Given the description of an element on the screen output the (x, y) to click on. 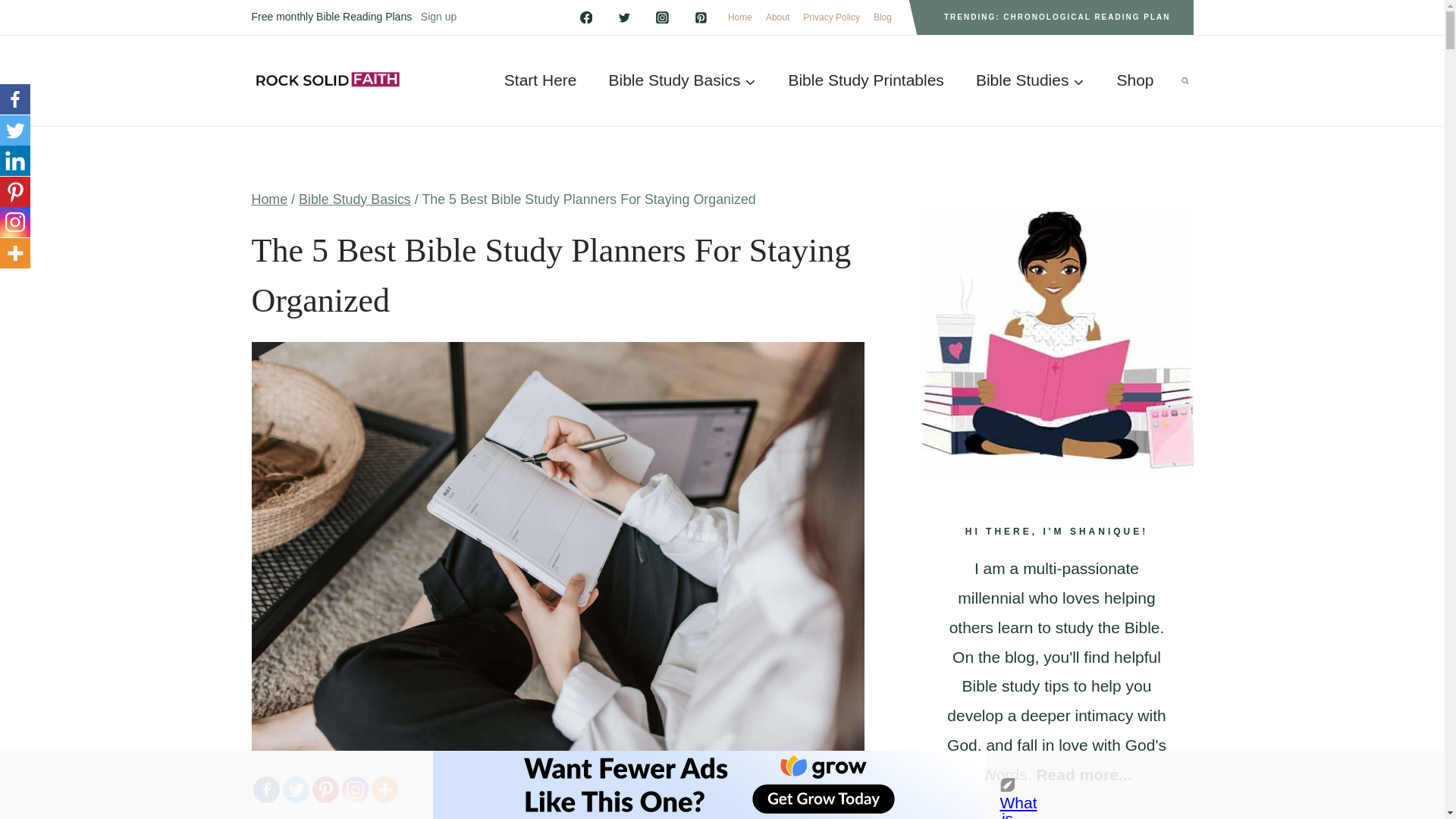
Linkedin (15, 160)
Start Here (539, 80)
Pinterest (326, 789)
Bible Study Basics (354, 199)
Twitter (15, 130)
Home (269, 199)
Bible Study Printables (865, 80)
Home (739, 17)
More (15, 253)
TRENDING: CHRONOLOGICAL READING PLAN (1056, 17)
Blog (882, 17)
Facebook (266, 789)
More (384, 789)
Instagram (15, 222)
Shop (1134, 80)
